Given the description of an element on the screen output the (x, y) to click on. 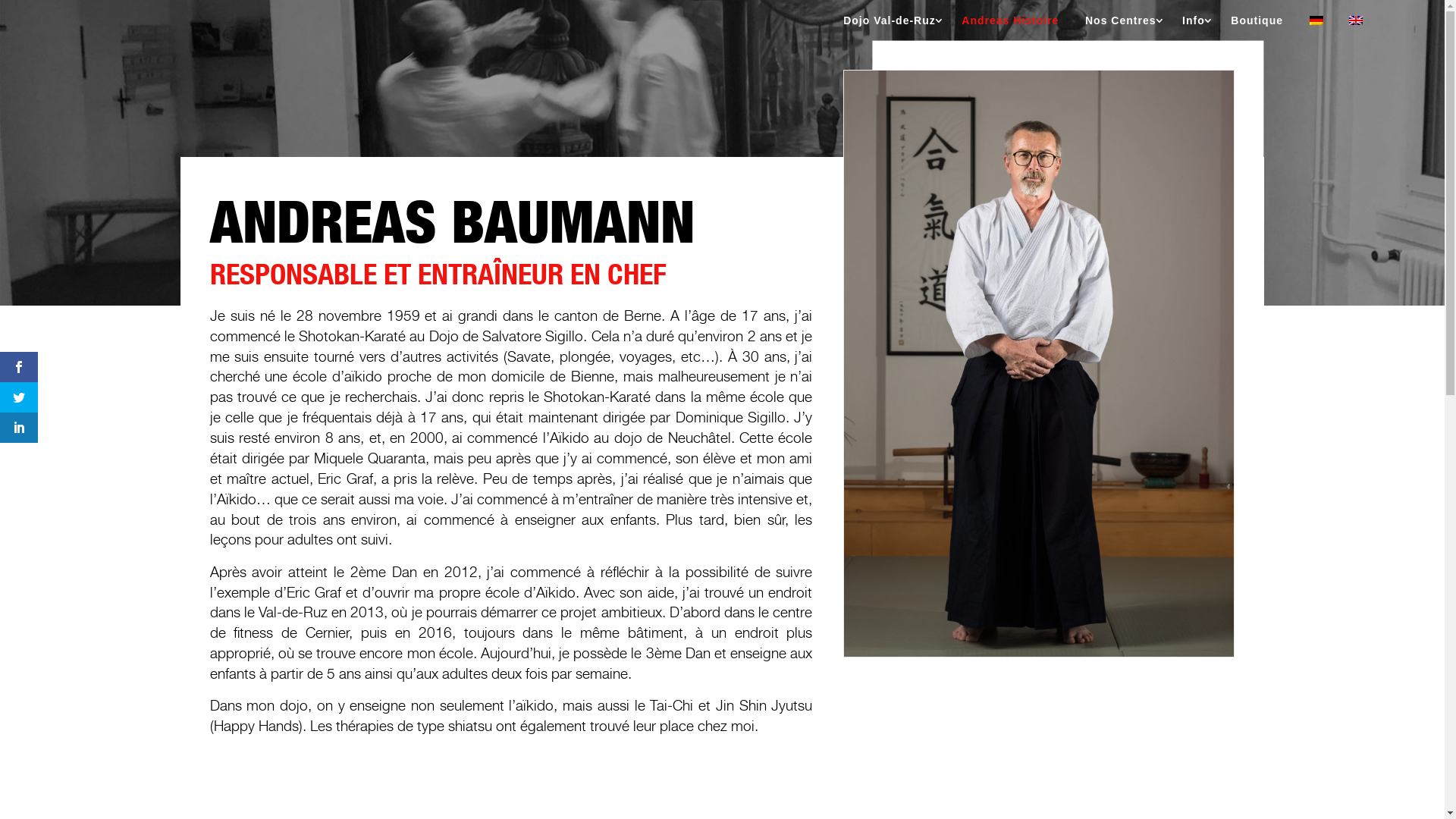
Nos Centres Element type: text (1125, 27)
Dojo Val-de-Ruz Element type: text (893, 27)
Info Element type: text (1198, 27)
Andreas Histoire Element type: text (1014, 27)
Andreas Baumann Element type: hover (1038, 363)
Boutique Element type: text (1261, 27)
